Given the description of an element on the screen output the (x, y) to click on. 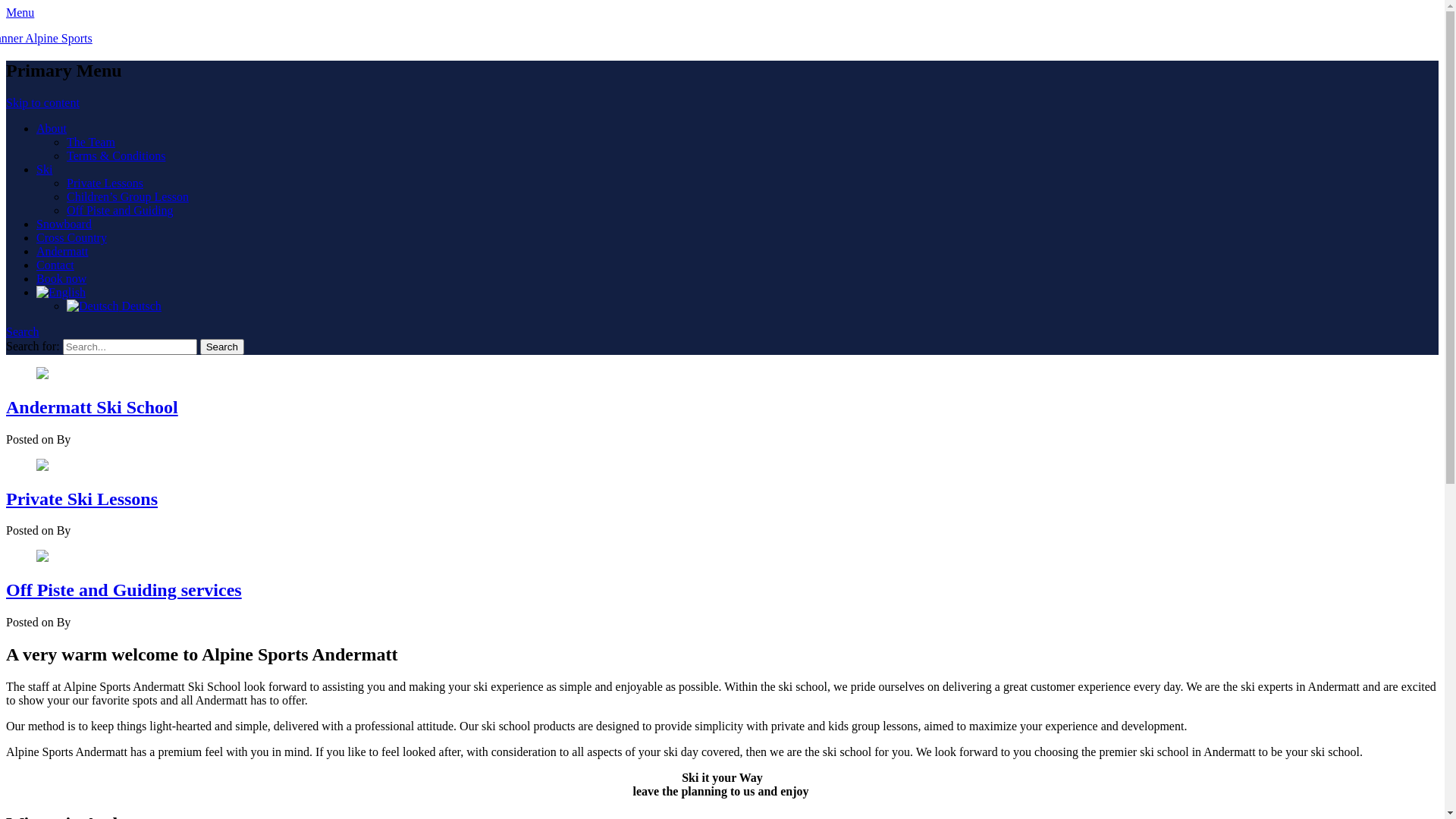
Ski Element type: text (44, 169)
Menu Element type: text (20, 12)
Terms & Conditions Element type: text (115, 155)
Skip to content Element type: text (42, 102)
About Element type: text (51, 128)
Andermatt Ski School Element type: text (92, 407)
Permalink to: Private Ski Lessons Element type: hover (42, 466)
Search Element type: text (22, 331)
The Team Element type: text (90, 141)
Language Menu Element type: hover (60, 291)
Andermatt Element type: text (61, 250)
Alpine Sports Andermatt Element type: text (66, 38)
Contact Element type: text (55, 264)
Snowboard Element type: text (63, 223)
Book now Element type: text (61, 278)
Cross Country Element type: text (71, 237)
Search Element type: text (222, 346)
Off Piste and Guiding Element type: text (119, 209)
Search for: Element type: hover (129, 346)
 Deutsch Element type: text (113, 305)
Off Piste and Guiding services Element type: text (123, 589)
Permalink to: Andermatt Ski School Element type: hover (42, 374)
Permalink to: Off Piste and Guiding services Element type: hover (42, 557)
Private Ski Lessons Element type: text (81, 498)
Private Lessons Element type: text (104, 182)
